Given the description of an element on the screen output the (x, y) to click on. 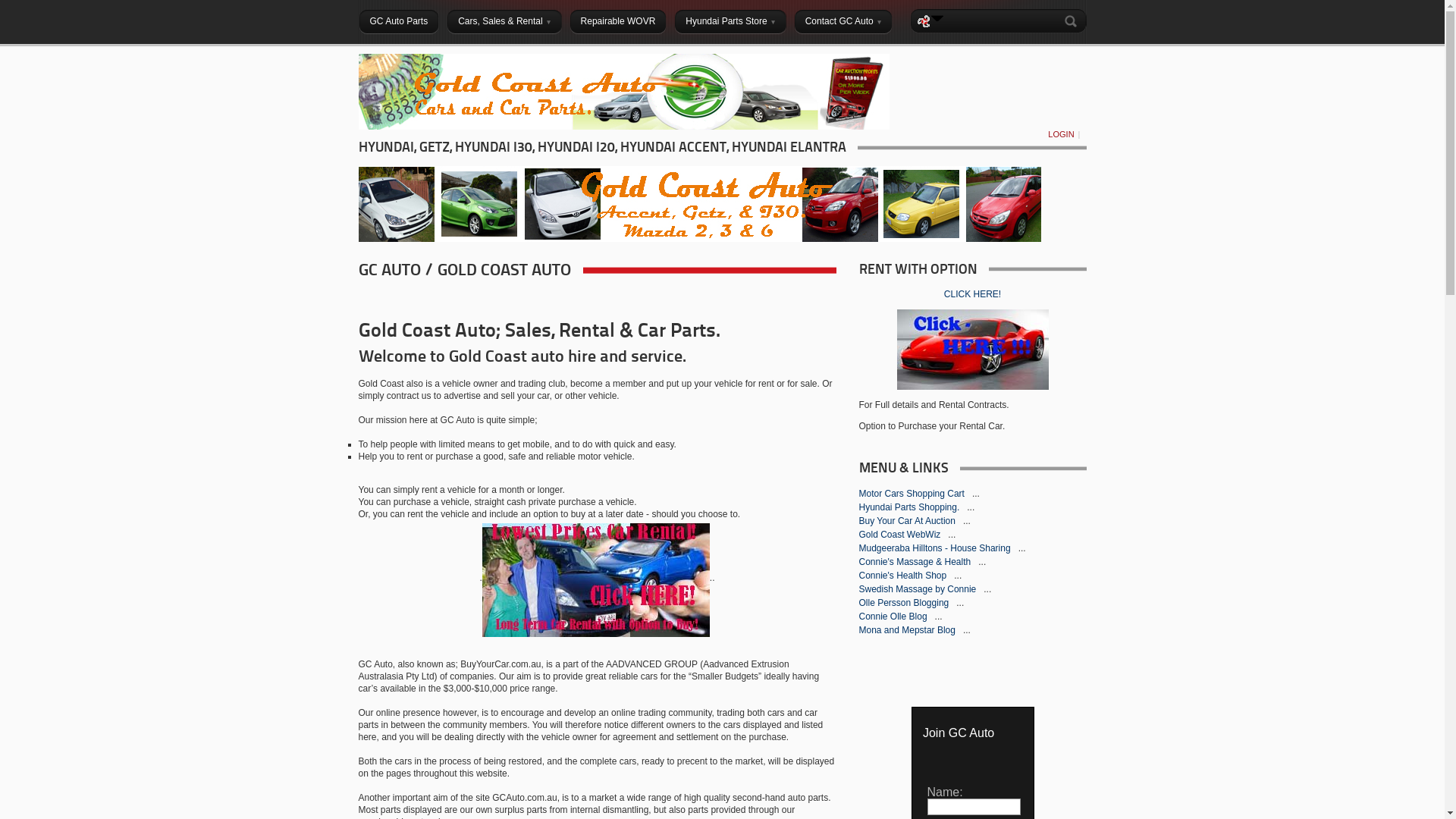
... Element type: text (975, 493)
Mudgeeraba Hilltons - House Sharing Element type: text (935, 547)
Gold Coast WebWiz Element type: text (900, 534)
Rental & Options Element type: hover (595, 578)
Connie's Massage & Health Element type: text (915, 561)
Connie's Health Shop Element type: text (903, 575)
Repairable WOVR Element type: text (618, 20)
CLICK HERE! Element type: text (972, 293)
Hyundai Parts Shopping. Element type: text (909, 507)
... Element type: text (957, 575)
... Element type: text (951, 534)
Mona and Mepstar Blog Element type: text (907, 629)
... Element type: text (938, 616)
Select the search type Element type: hover (937, 18)
... Element type: text (966, 629)
Contact GC Auto Element type: text (842, 20)
Motor Cars Shopping Cart Element type: text (912, 493)
Hyundai Parts Store Element type: text (729, 20)
... Element type: text (959, 602)
Olle Persson Blogging Element type: text (904, 602)
Search Element type: text (1072, 21)
LOGIN Element type: text (1060, 133)
Swedish Massage by Connie Element type: text (918, 588)
Connie Olle Blog Element type: text (893, 616)
... Element type: text (981, 561)
Buy Your Car At Auction Element type: text (907, 520)
... Element type: text (970, 507)
Gold Coast auto and car parts Element type: hover (622, 126)
Cars, Sales & Rental Element type: text (503, 20)
... Element type: text (1022, 547)
GC Auto Parts Element type: text (398, 20)
... Element type: text (966, 520)
... Element type: text (987, 588)
